Given the description of an element on the screen output the (x, y) to click on. 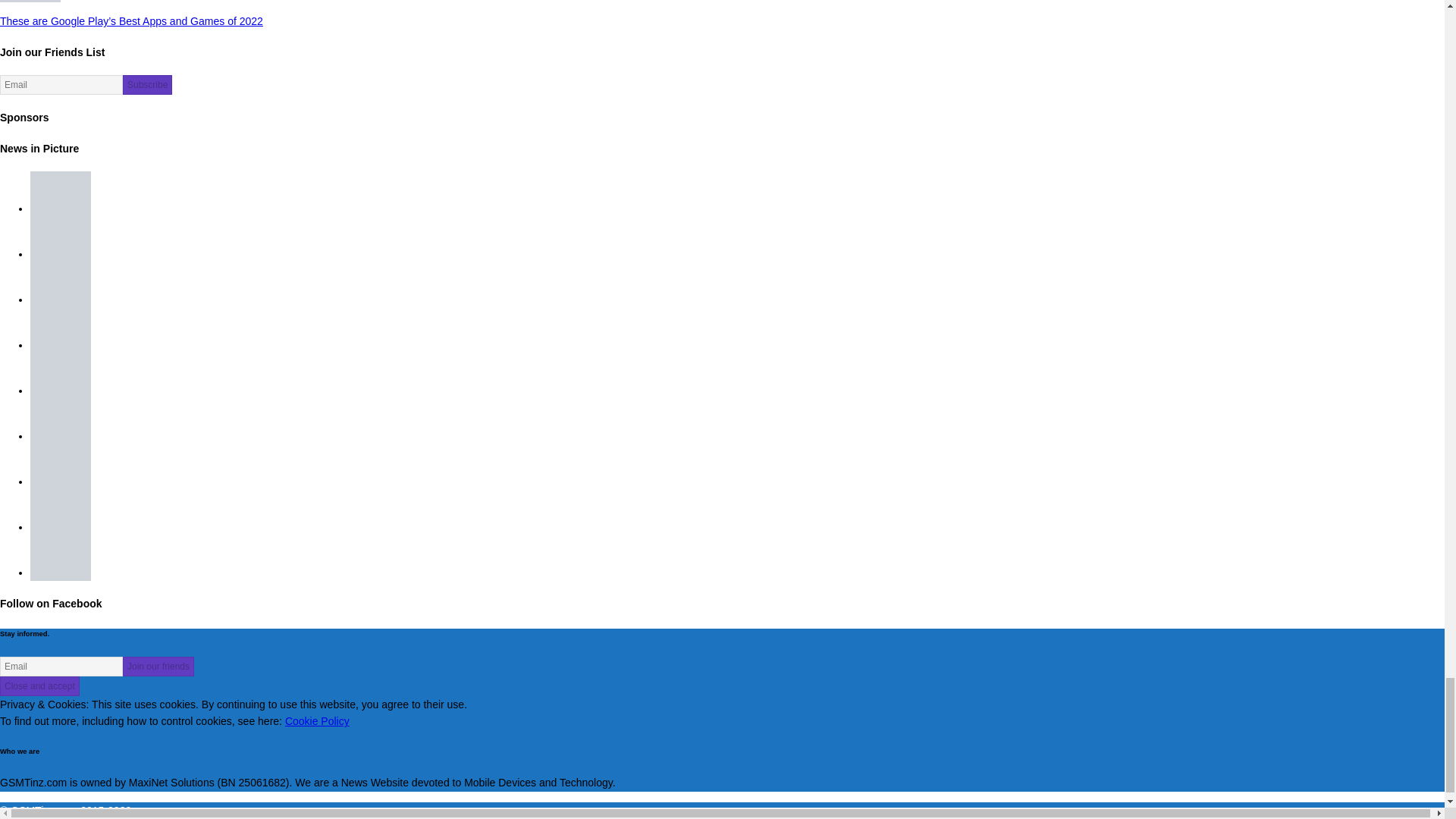
Close and accept (40, 686)
Subscribe (146, 85)
Join our friends (157, 666)
Subscribe (146, 85)
